Given the description of an element on the screen output the (x, y) to click on. 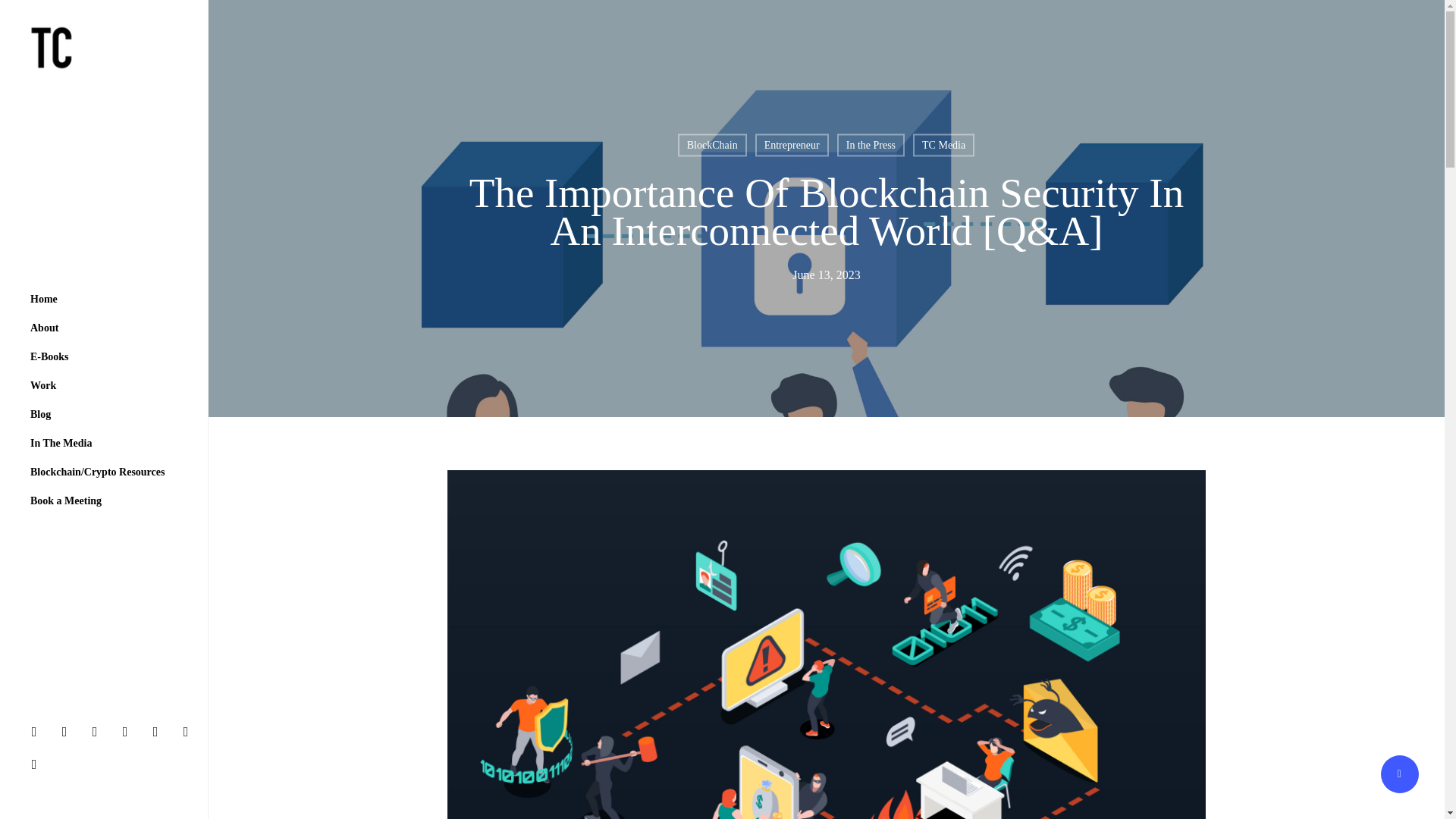
In the Press (870, 144)
TC Media (943, 144)
Entrepreneur (791, 144)
E-Books (50, 357)
Blog (40, 414)
Work (43, 385)
About (44, 328)
In The Media (61, 443)
Home (44, 299)
Book a Meeting (66, 500)
BlockChain (712, 144)
